Given the description of an element on the screen output the (x, y) to click on. 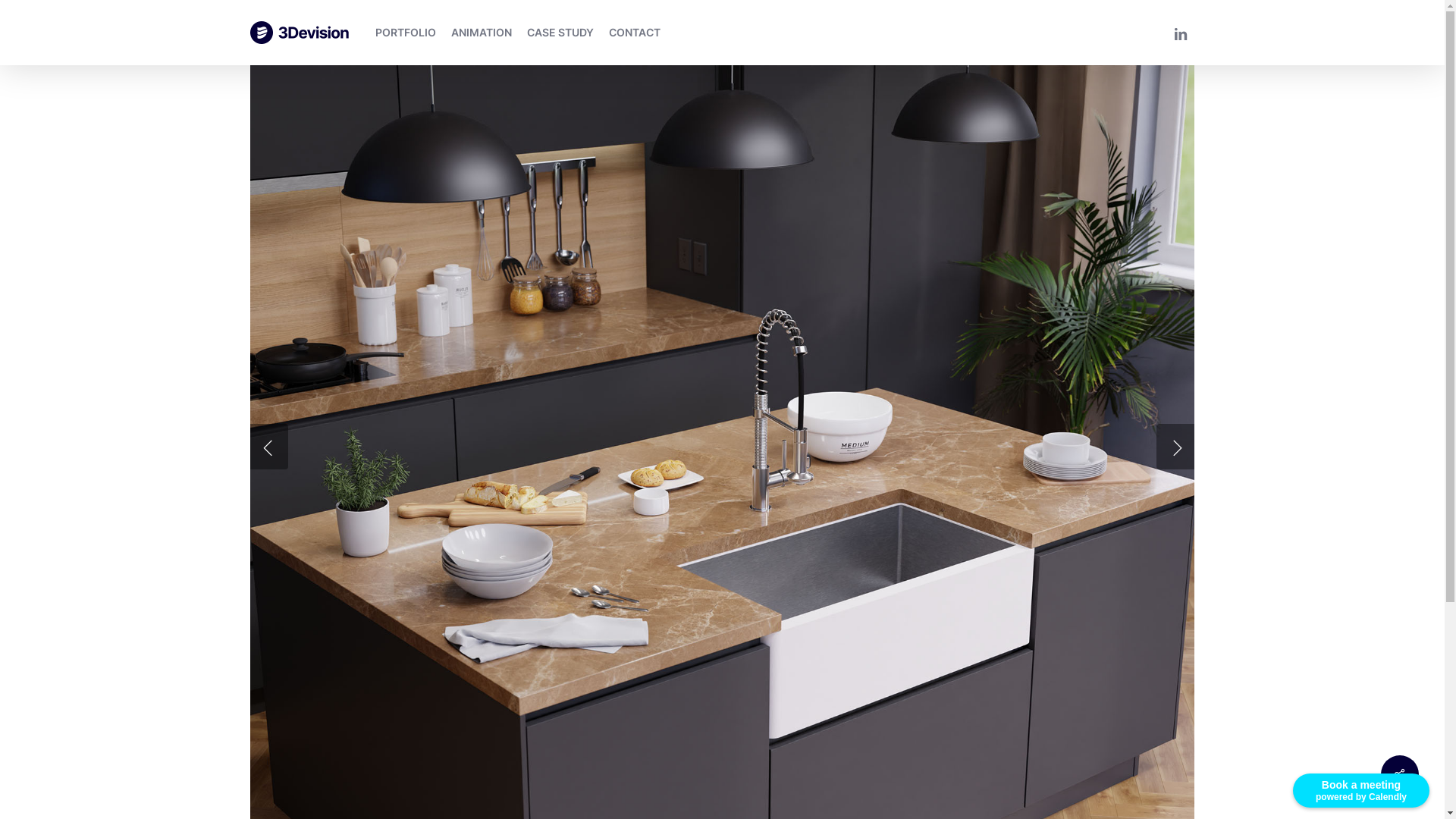
whatsapp Element type: text (816, 773)
twitter Element type: text (626, 773)
linkedin Element type: text (1180, 31)
linkedin Element type: text (740, 773)
CASE STUDY Element type: text (560, 32)
facebook Element type: text (664, 773)
PORTFOLIO Element type: text (405, 32)
telegram Element type: text (778, 773)
CONTACT Element type: text (634, 32)
vimeo Element type: text (702, 773)
ANIMATION Element type: text (481, 32)
